Given the description of an element on the screen output the (x, y) to click on. 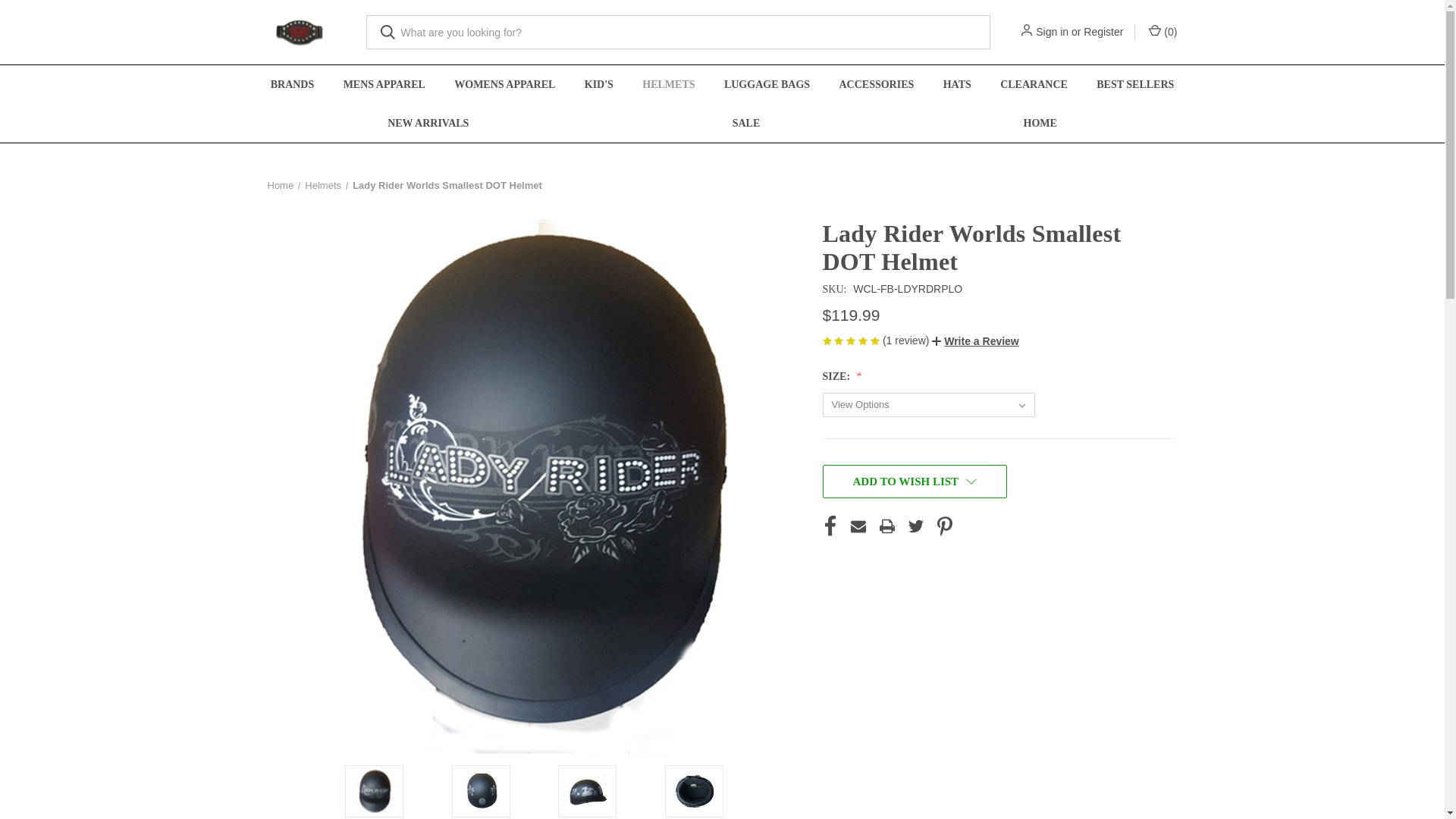
Sign in (1051, 32)
BRANDS (292, 84)
Lady Rider Worlds Smallest DOT Helmet (588, 791)
Lady Rider Worlds Smallest DOT Helmet (694, 790)
Leather Bound (298, 32)
Register (1102, 32)
Lady Rider Worlds Smallest DOT Helmet (480, 791)
